Given the description of an element on the screen output the (x, y) to click on. 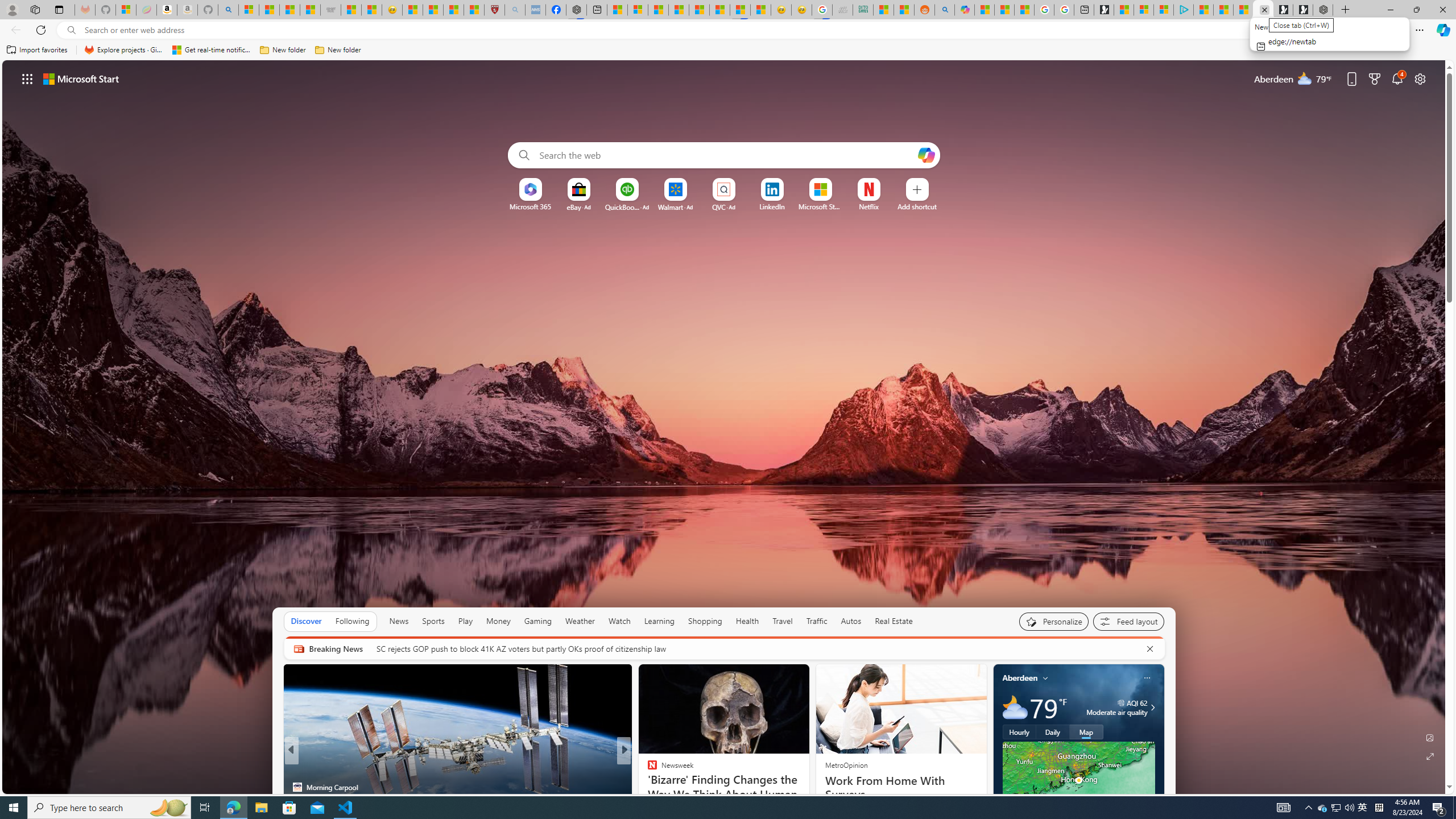
Cancel (1150, 648)
Import favorites (36, 49)
Daily (1052, 731)
Work From Home With Surveys (900, 786)
Utah sues federal government - Search (944, 9)
